Given the description of an element on the screen output the (x, y) to click on. 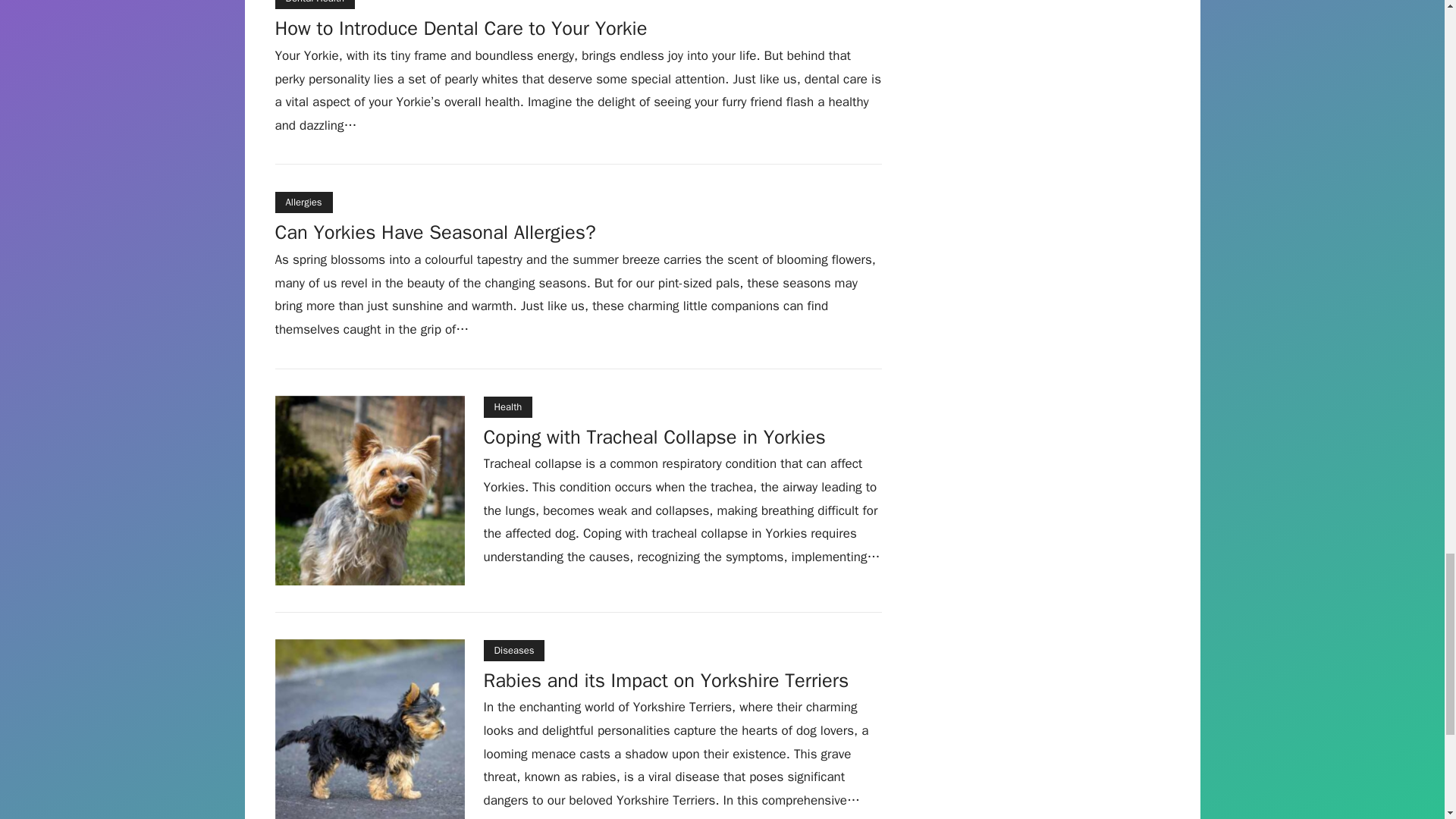
Diseases (513, 649)
Allergies (303, 201)
Dental Health (315, 4)
How to Introduce Dental Care to Your Yorkie (460, 30)
Rabies and its Impact on Yorkshire Terriers (665, 682)
Health (507, 406)
Can Yorkies Have Seasonal Allergies? (435, 234)
Coping with Tracheal Collapse in Yorkies (654, 439)
